Given the description of an element on the screen output the (x, y) to click on. 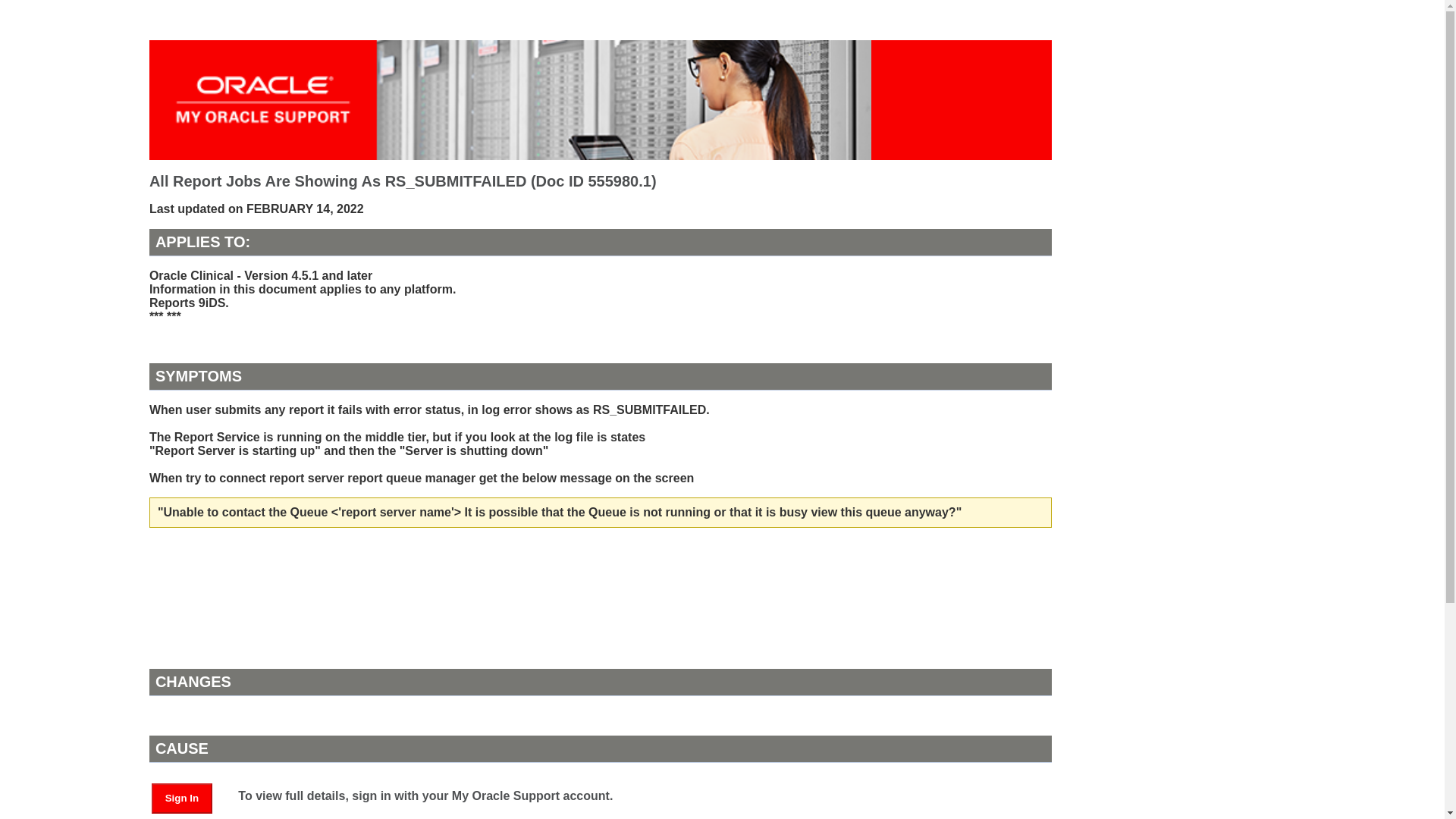
Sign In (189, 797)
Sign In (181, 798)
